Given the description of an element on the screen output the (x, y) to click on. 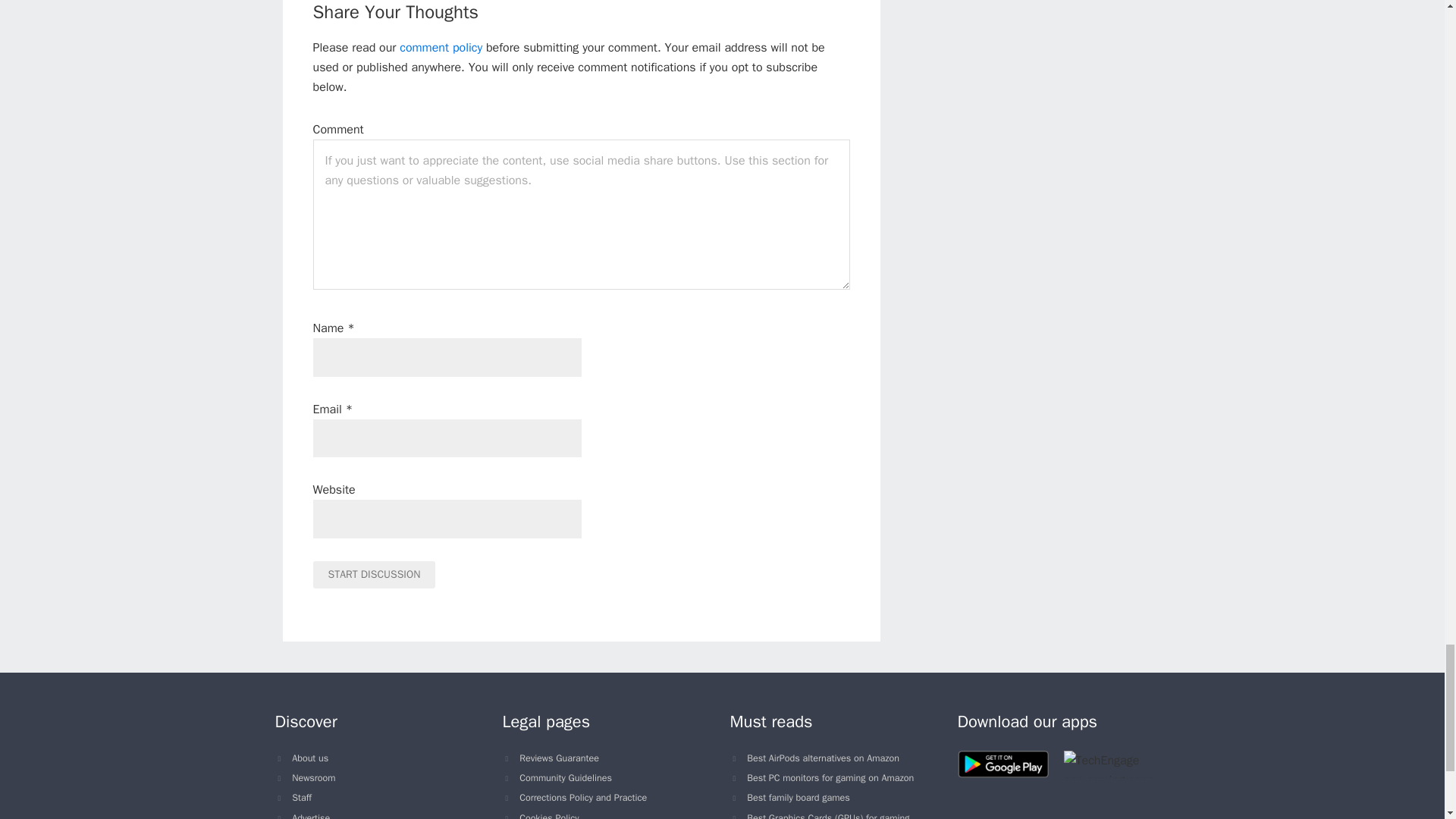
Start Discussion (374, 574)
